Given the description of an element on the screen output the (x, y) to click on. 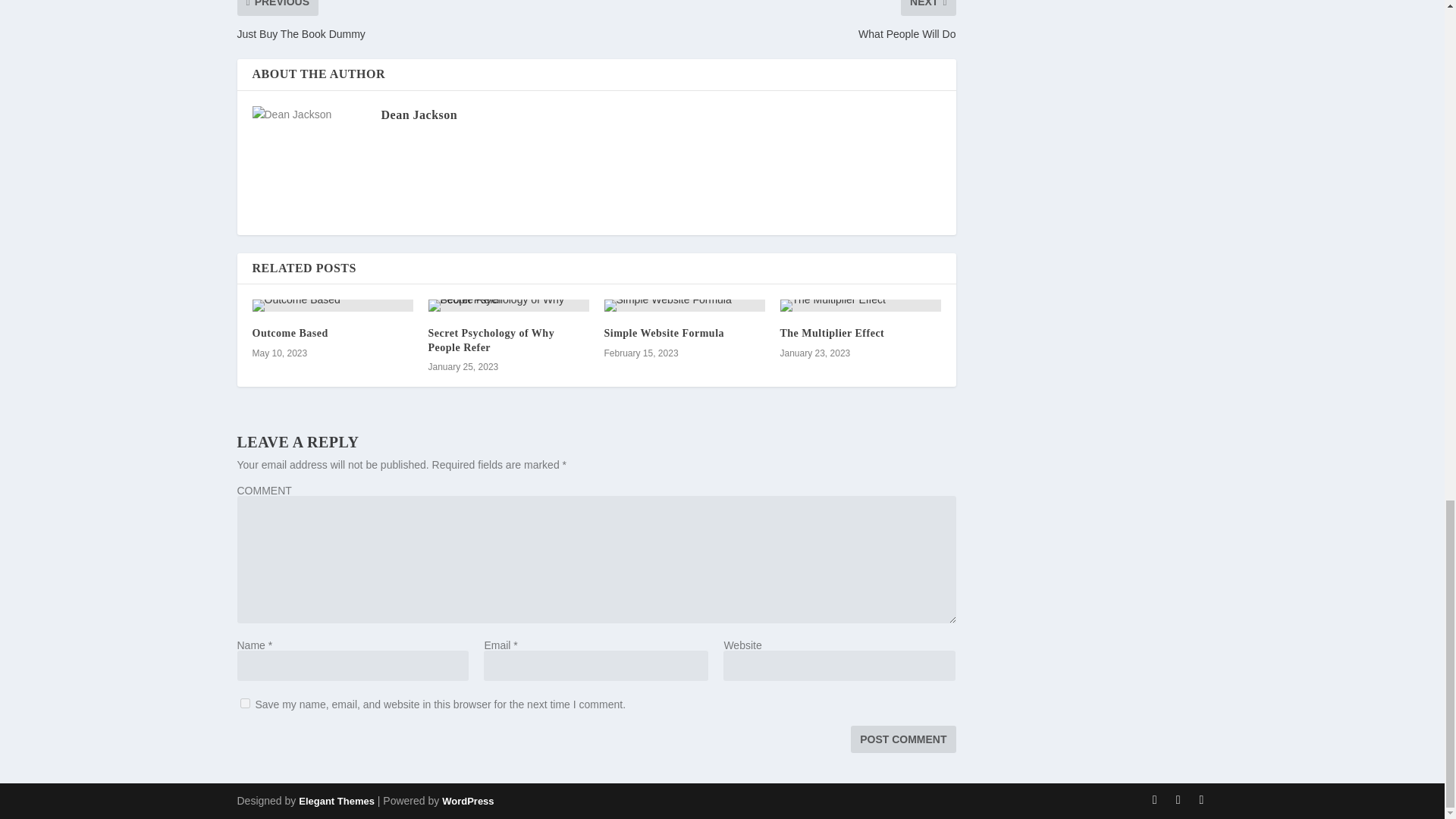
Post Comment (902, 738)
Simple Website Formula (663, 333)
Dean Jackson (418, 114)
yes (244, 703)
Outcome Based (289, 333)
Secret Psychology of Why People Refer (491, 339)
